Given the description of an element on the screen output the (x, y) to click on. 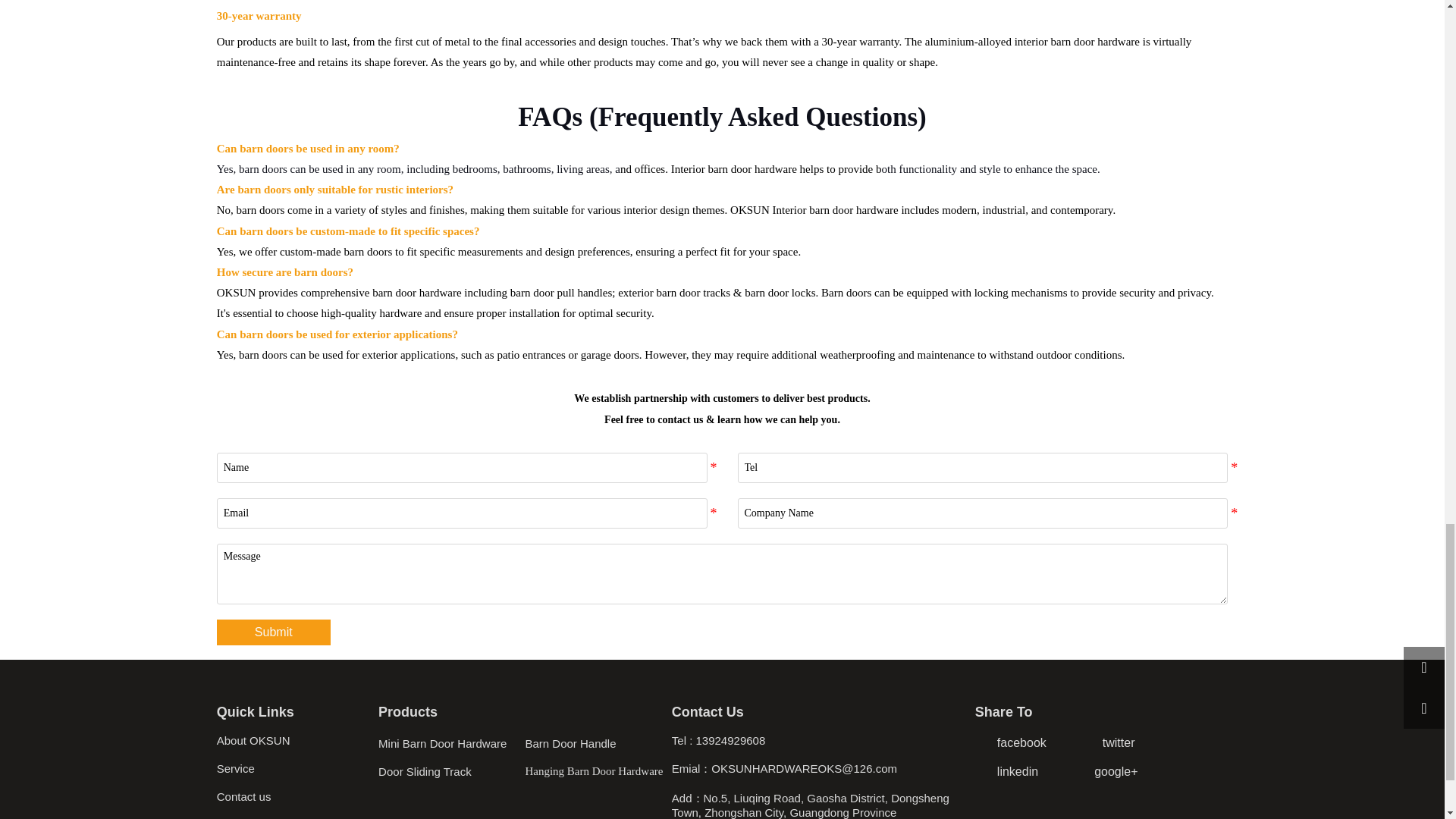
Mini Barn Door Hardware (451, 742)
About OKSUN (297, 740)
News (297, 816)
Service (297, 768)
Contact us (297, 796)
